Given the description of an element on the screen output the (x, y) to click on. 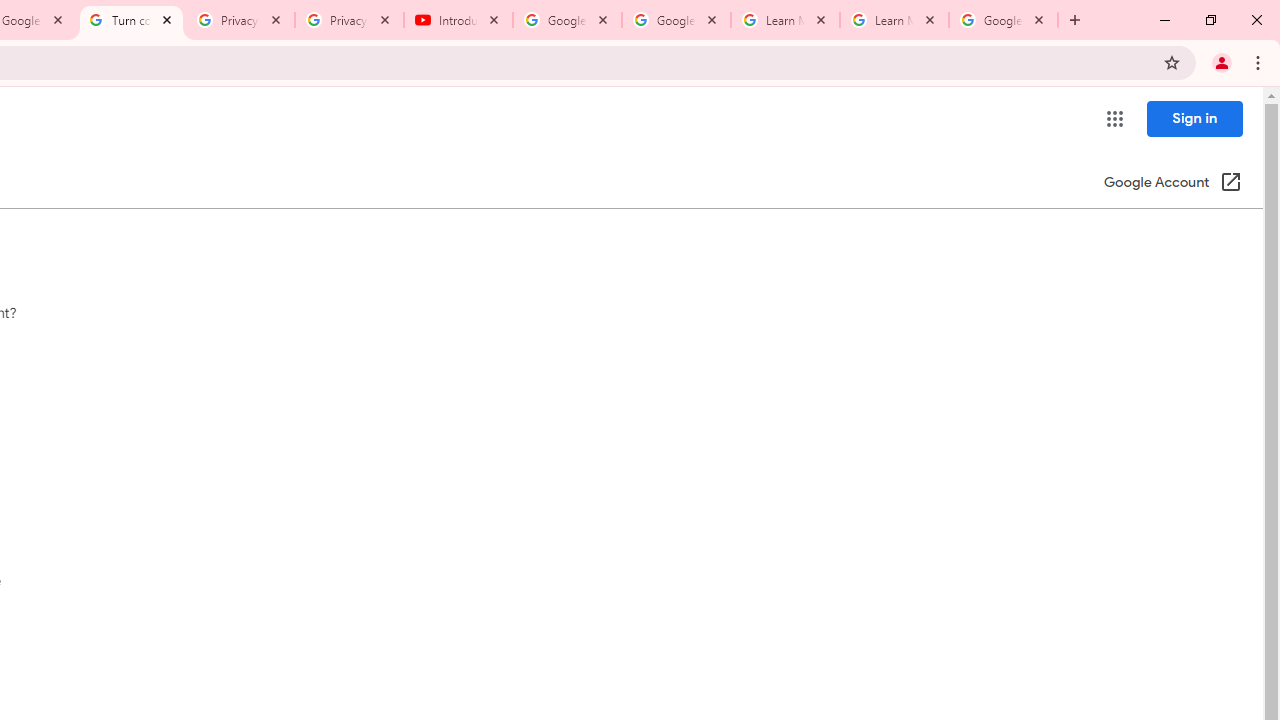
Introduction | Google Privacy Policy - YouTube (458, 20)
